Given the description of an element on the screen output the (x, y) to click on. 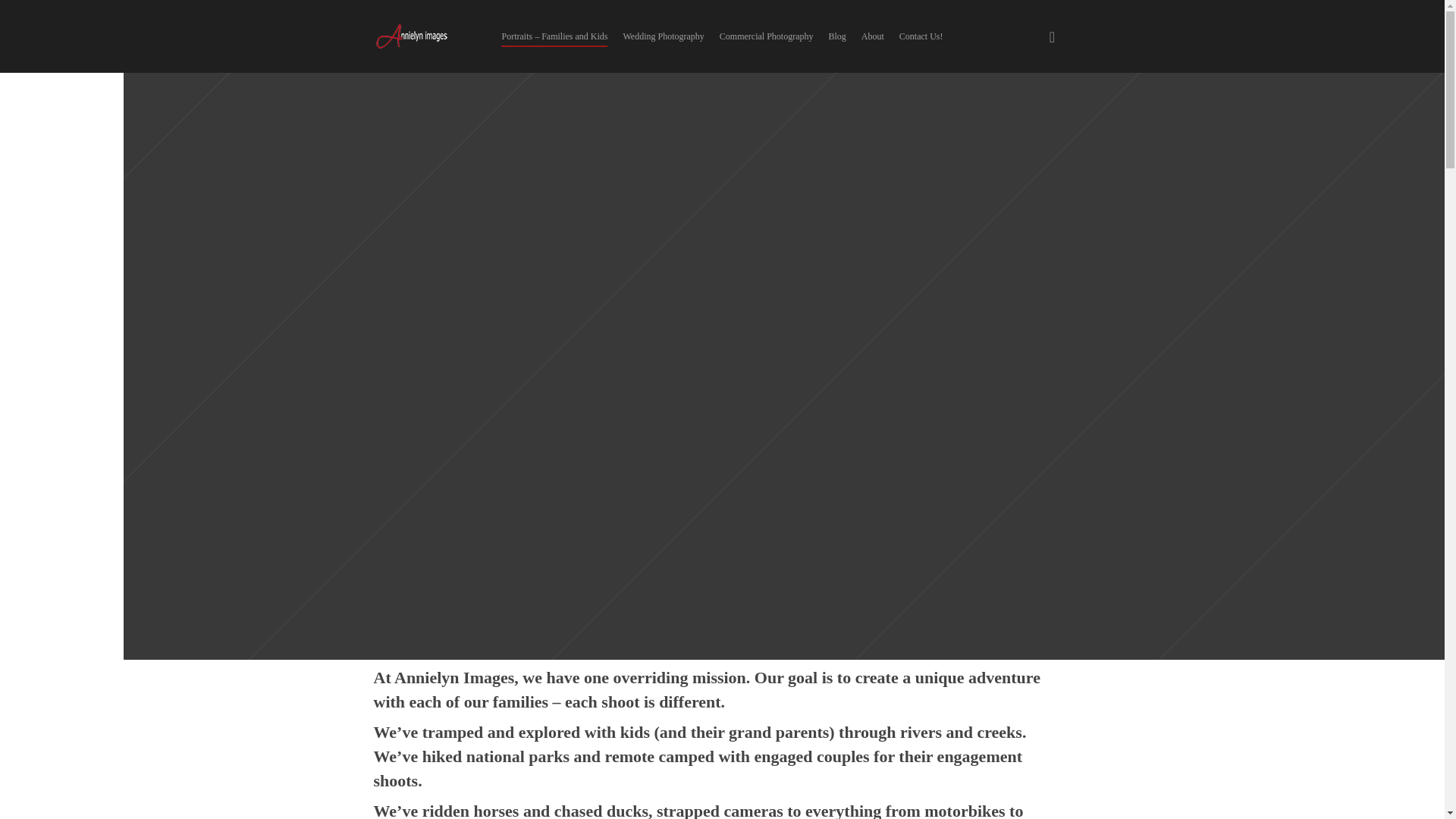
Blog (836, 36)
Commercial Photography (766, 36)
Contact Us! (921, 36)
Wedding Photography (663, 36)
About (872, 36)
